Given the description of an element on the screen output the (x, y) to click on. 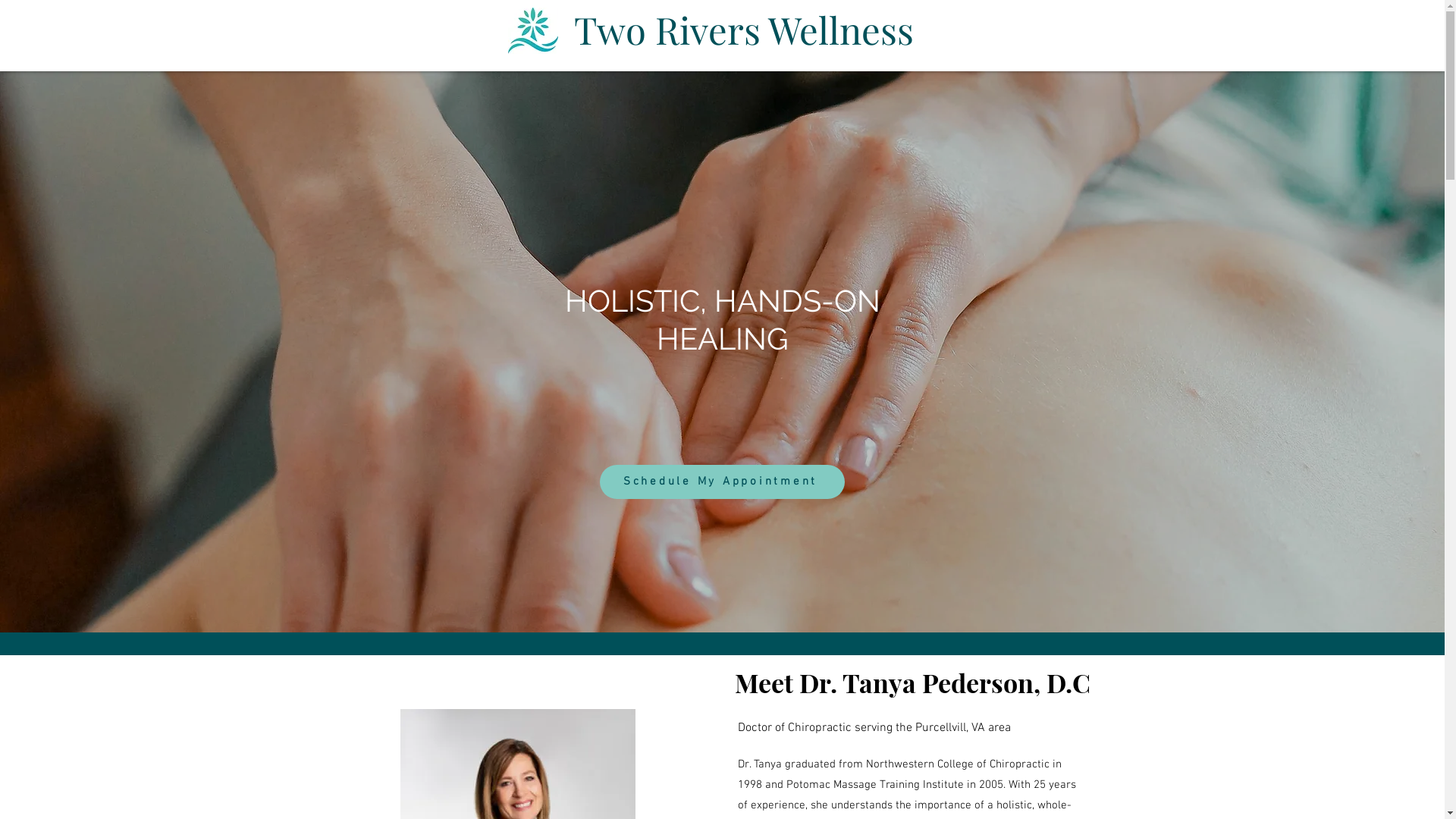
Schedule My Appointment Element type: text (721, 481)
